Given the description of an element on the screen output the (x, y) to click on. 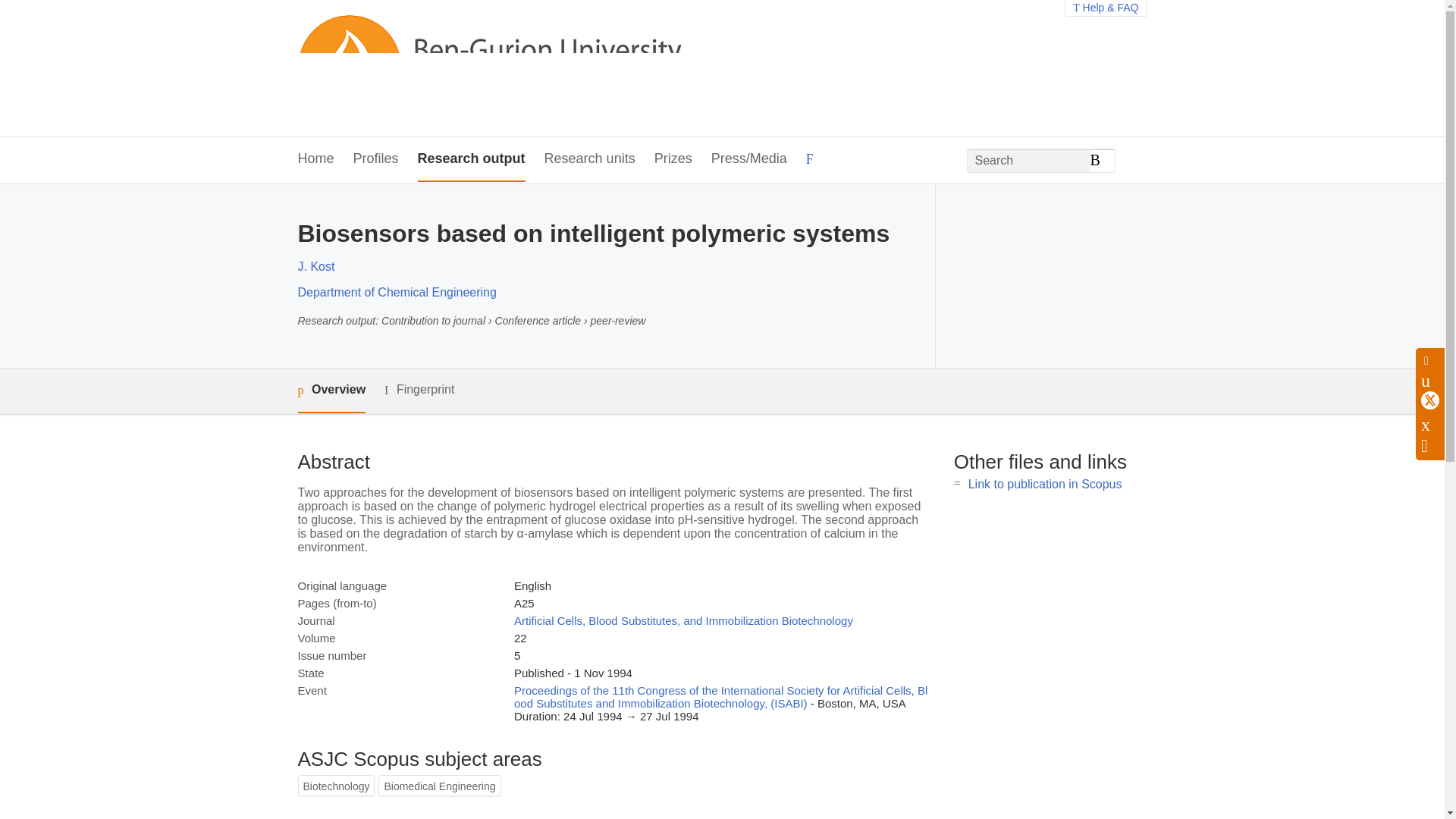
Research output (471, 159)
Ben-Gurion University Research Portal Home (489, 68)
Link to publication in Scopus (1045, 483)
J. Kost (315, 266)
Prizes (673, 159)
Fingerprint (419, 389)
Department of Chemical Engineering (396, 291)
Overview (331, 390)
Profiles (375, 159)
Home (315, 159)
Research units (589, 159)
